Given the description of an element on the screen output the (x, y) to click on. 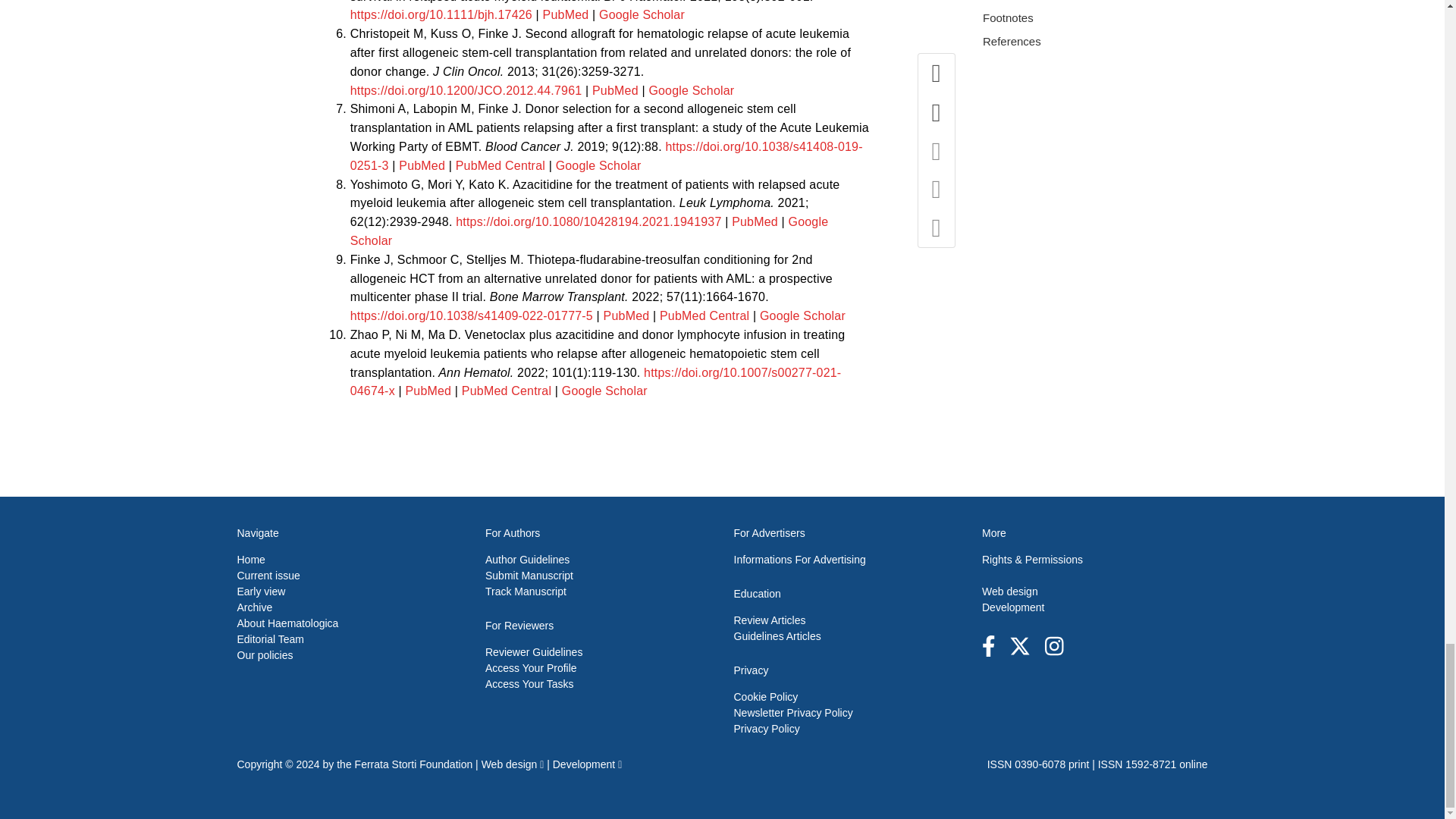
Home (249, 559)
Early View (260, 591)
Current Issue (267, 575)
